Given the description of an element on the screen output the (x, y) to click on. 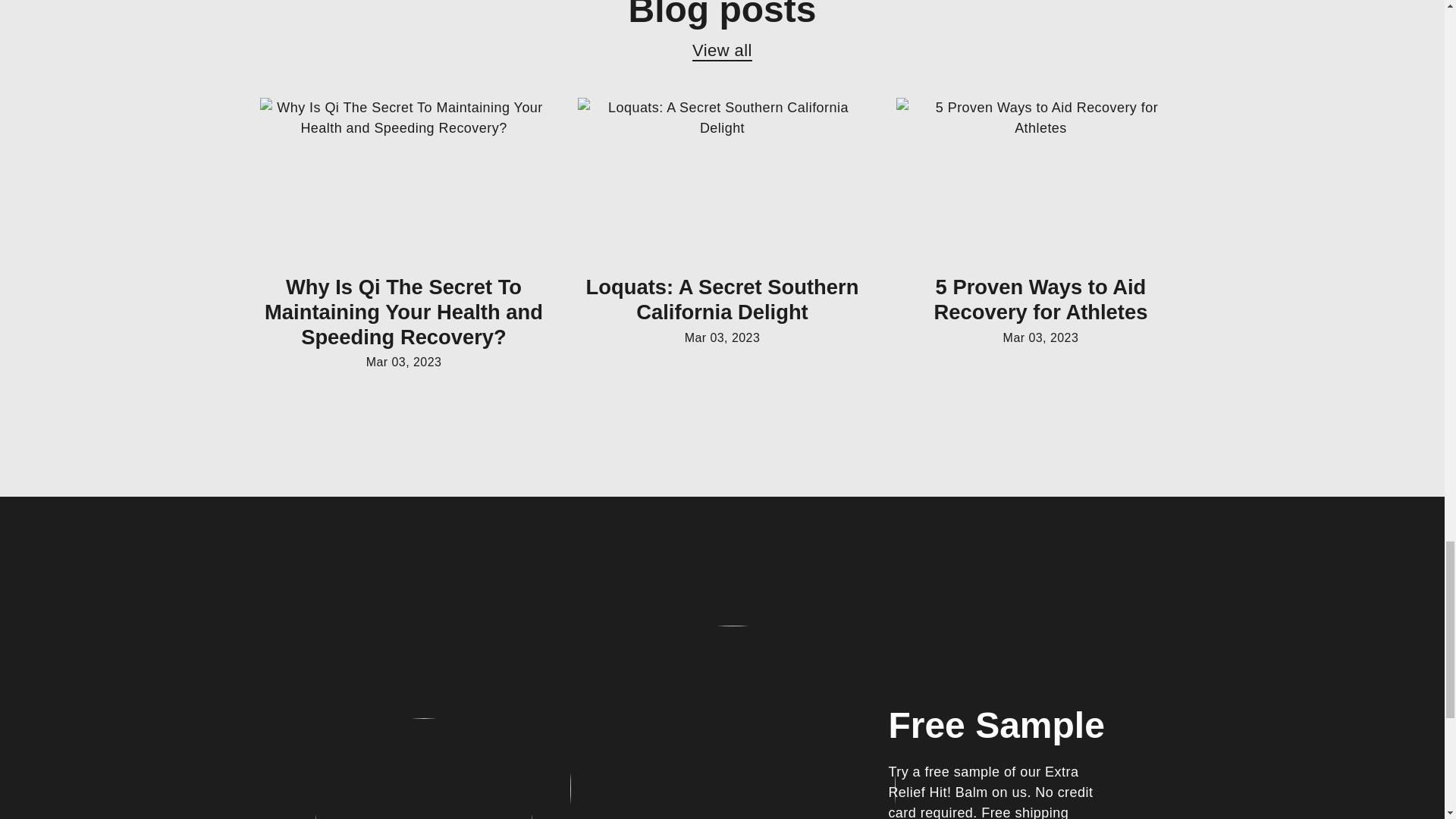
Loquats: A Secret Southern California Delight (722, 299)
5 Proven Ways to Aid Recovery for Athletes (1041, 299)
View all (722, 49)
